Given the description of an element on the screen output the (x, y) to click on. 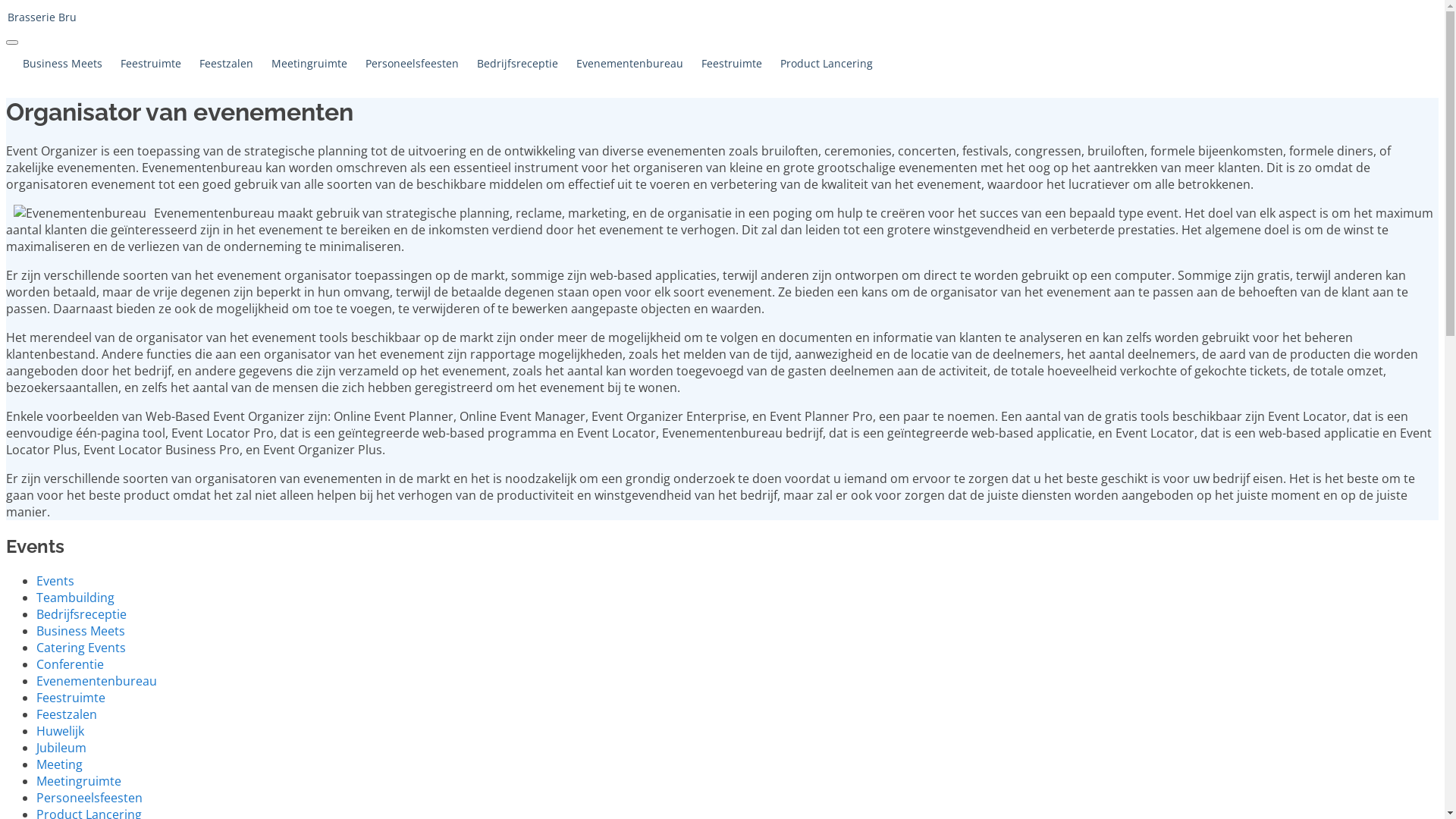
Meeting Element type: text (59, 764)
Evenementenbureau Element type: text (629, 63)
Meetingruimte Element type: text (308, 63)
Feestruimte Element type: text (70, 697)
Personeelsfeesten Element type: text (89, 797)
Brasserie Bru Element type: text (722, 17)
Jubileum Element type: text (61, 747)
Product Lancering Element type: text (826, 63)
Teambuilding Element type: text (75, 597)
Personeelsfeesten Element type: text (412, 63)
Feestruimte Element type: text (150, 63)
Catering Events Element type: text (80, 647)
Huwelijk Element type: text (60, 730)
Evenementenbureau Element type: text (96, 680)
Events Element type: text (55, 580)
Bedrijfsreceptie Element type: text (517, 63)
Meetingruimte Element type: text (78, 780)
Feestzalen Element type: text (66, 714)
Bedrijfsreceptie Element type: text (81, 613)
Feestruimte Element type: text (731, 63)
Business Meets Element type: text (80, 630)
Conferentie Element type: text (69, 663)
Business Meets Element type: text (62, 63)
Feestzalen Element type: text (225, 63)
